Given the description of an element on the screen output the (x, y) to click on. 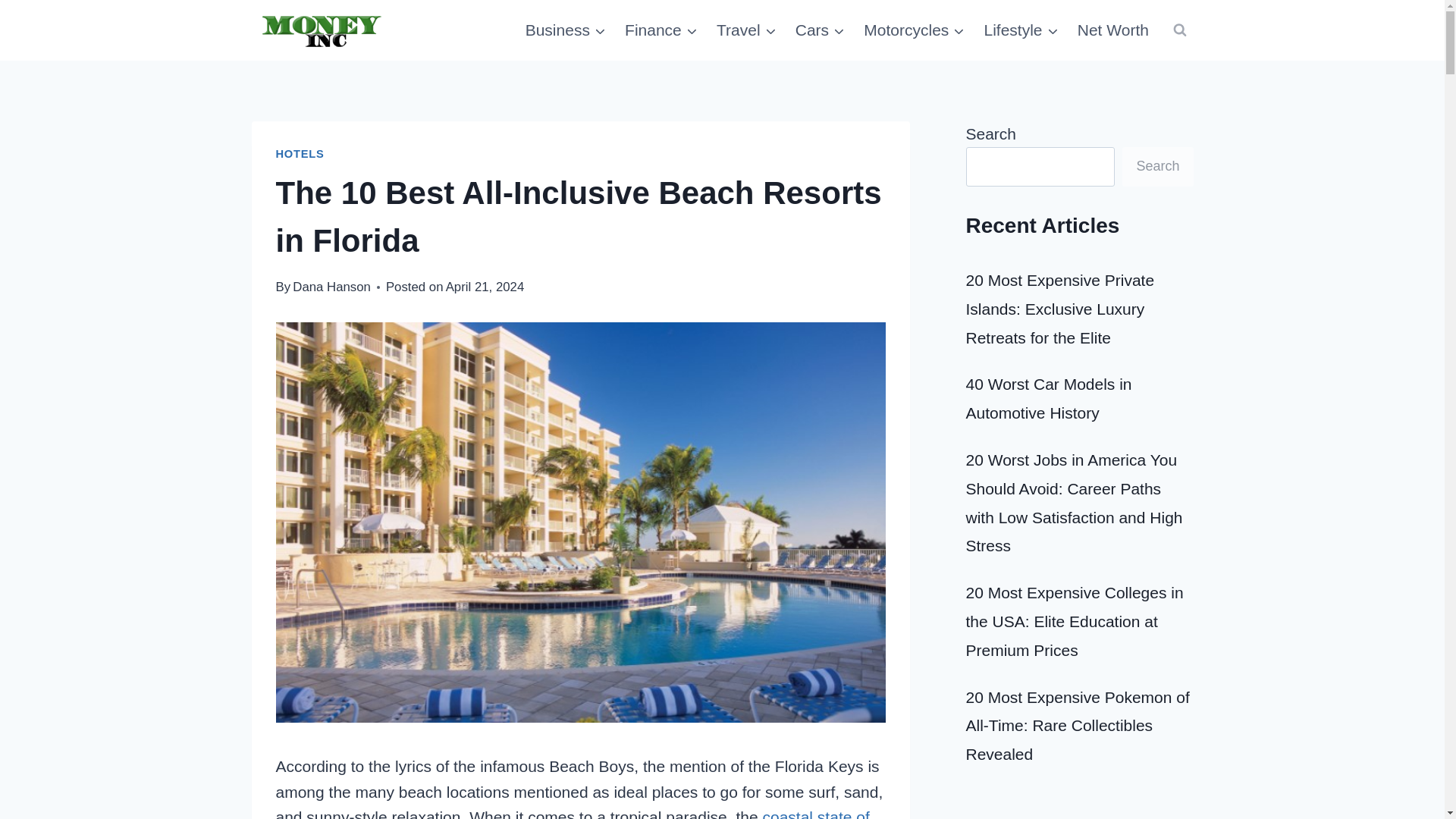
Finance (661, 30)
Business (564, 30)
Travel (746, 30)
Cars (820, 30)
